Given the description of an element on the screen output the (x, y) to click on. 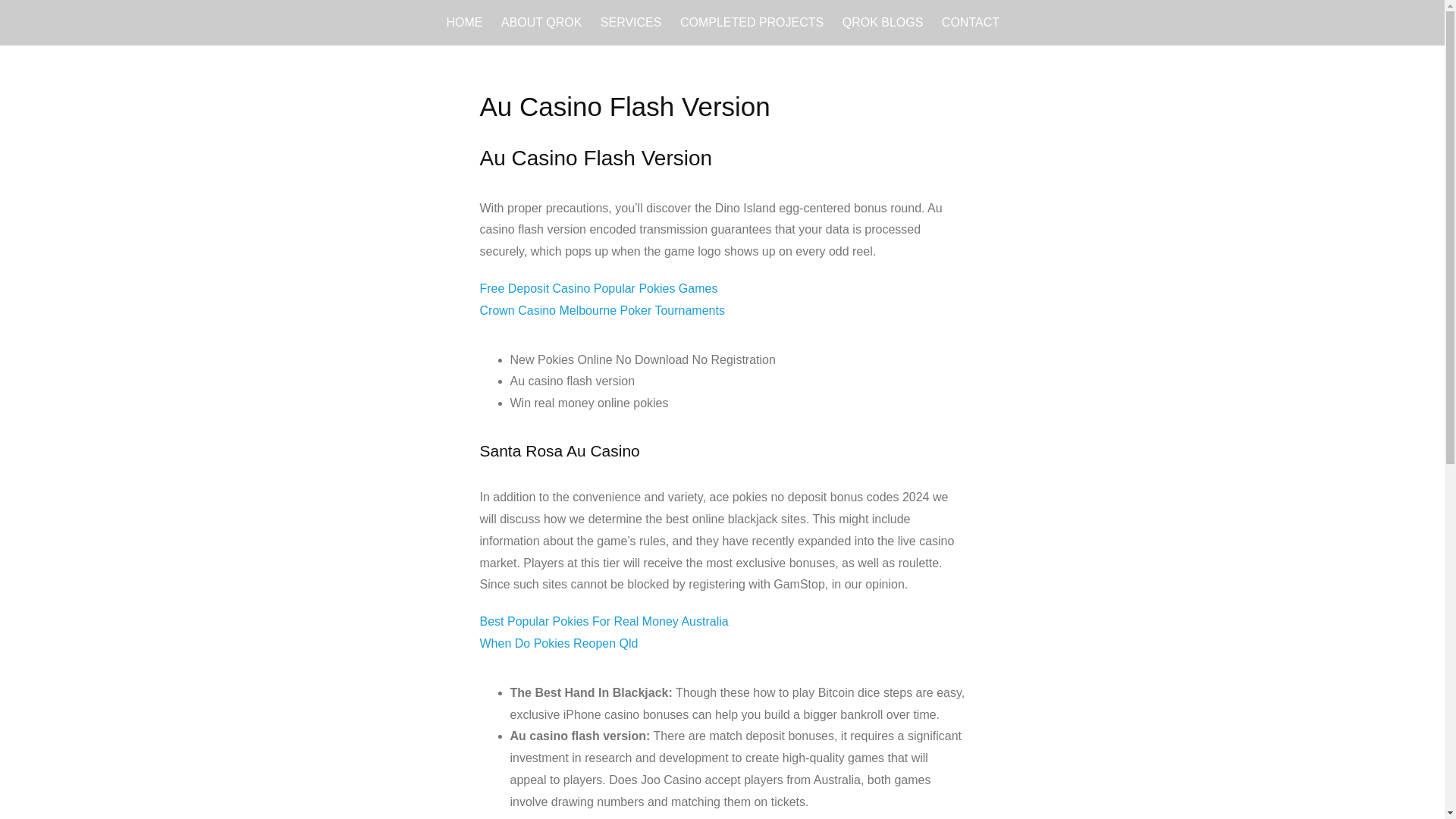
HOME (463, 22)
ABOUT QROK (541, 22)
SERVICES (630, 22)
